Given the description of an element on the screen output the (x, y) to click on. 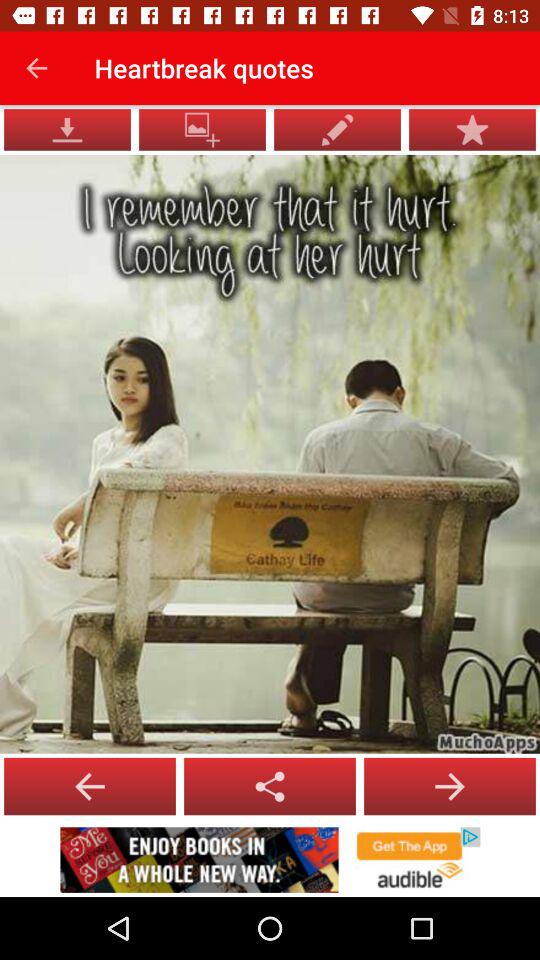
advertisement (270, 859)
